Given the description of an element on the screen output the (x, y) to click on. 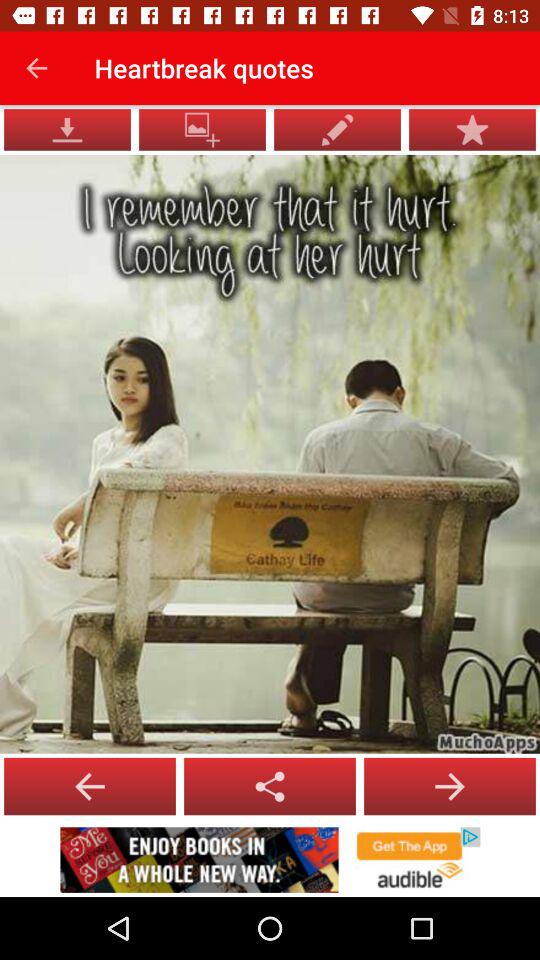
advertisement (270, 859)
